Given the description of an element on the screen output the (x, y) to click on. 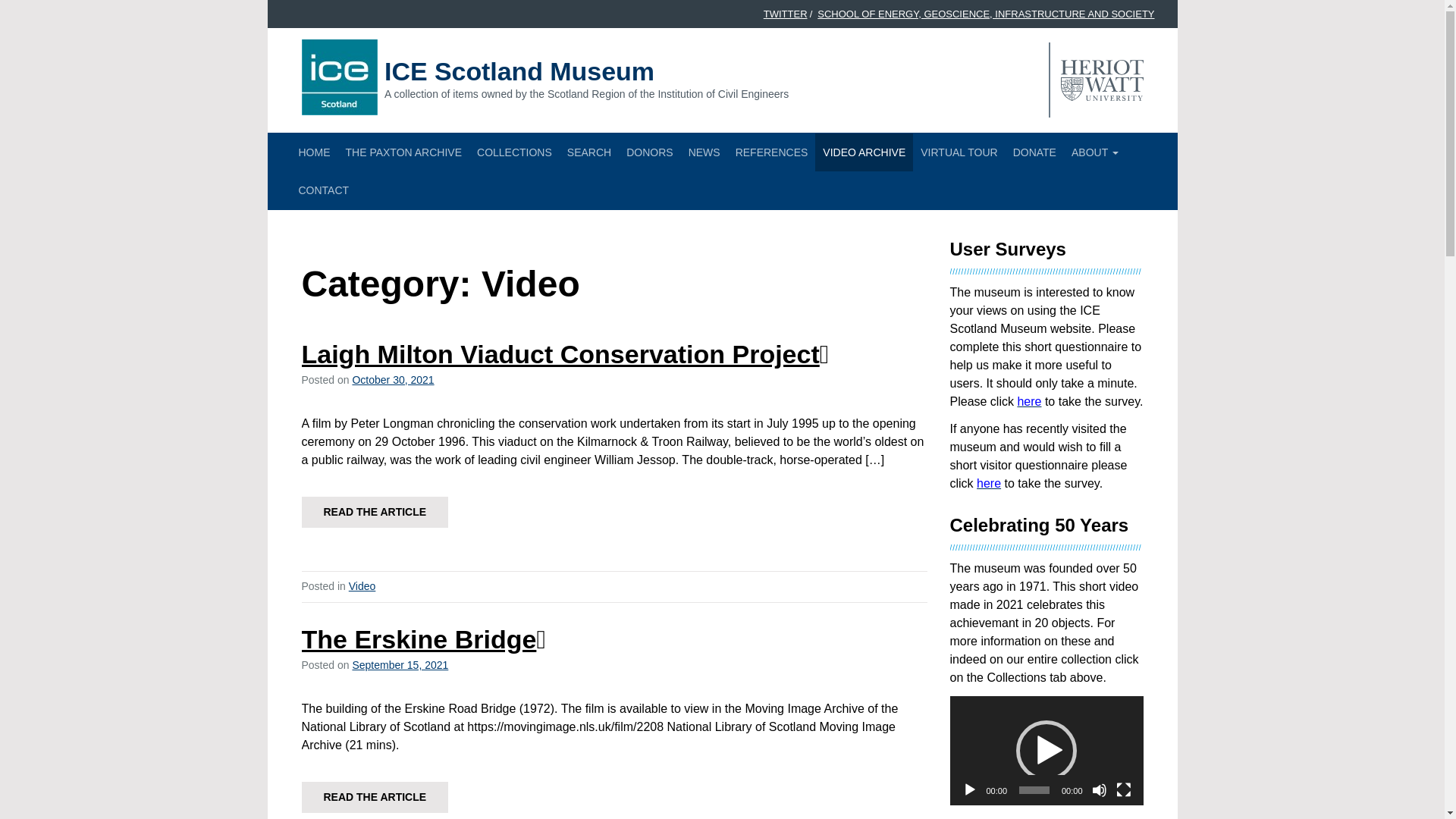
READ THE ARTICLE (374, 797)
The Erskine Bridge (423, 638)
DONORS (648, 152)
SCHOOL OF ENERGY, GEOSCIENCE, INFRASTRUCTURE AND SOCIETY (985, 13)
Donors (648, 152)
Laigh Milton Viaduct Conservation Project (565, 353)
Collections (513, 152)
School of Energy, Geoscience, Infrastructure and Society (985, 13)
Video (362, 585)
COLLECTIONS (513, 152)
